Given the description of an element on the screen output the (x, y) to click on. 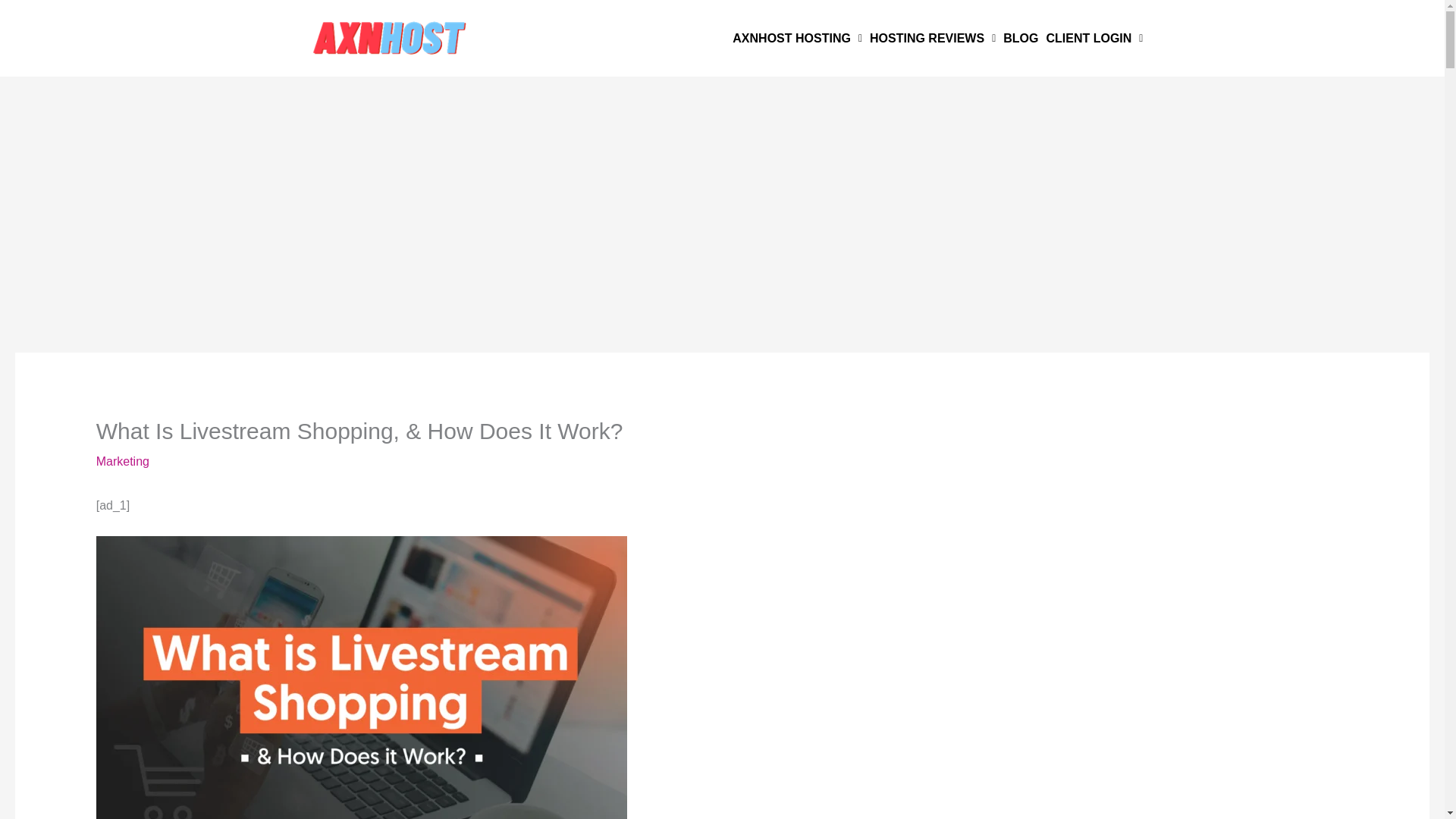
AXNHOST HOSTING (797, 38)
HOSTING REVIEWS (932, 38)
CLIENT LOGIN (1094, 38)
Marketing (122, 461)
BLOG (1020, 38)
